Given the description of an element on the screen output the (x, y) to click on. 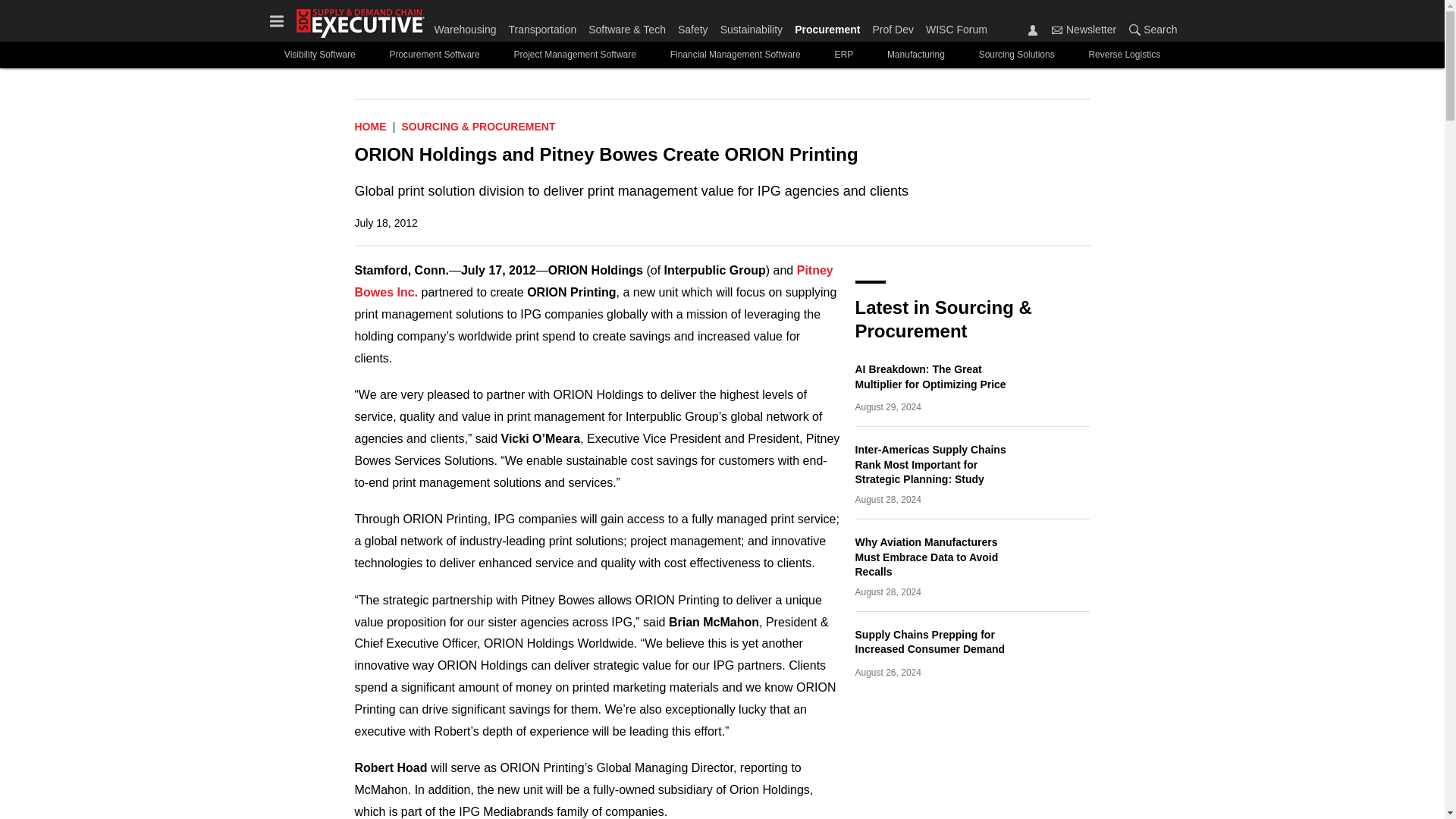
ERP (843, 54)
Procurement (827, 26)
Sourcing Solutions (1016, 54)
Procurement Software (434, 54)
Search (1134, 29)
Safety (692, 26)
Prof Dev (892, 26)
WISC Forum (953, 26)
Sign In (1032, 29)
Visibility Software (319, 54)
